Given the description of an element on the screen output the (x, y) to click on. 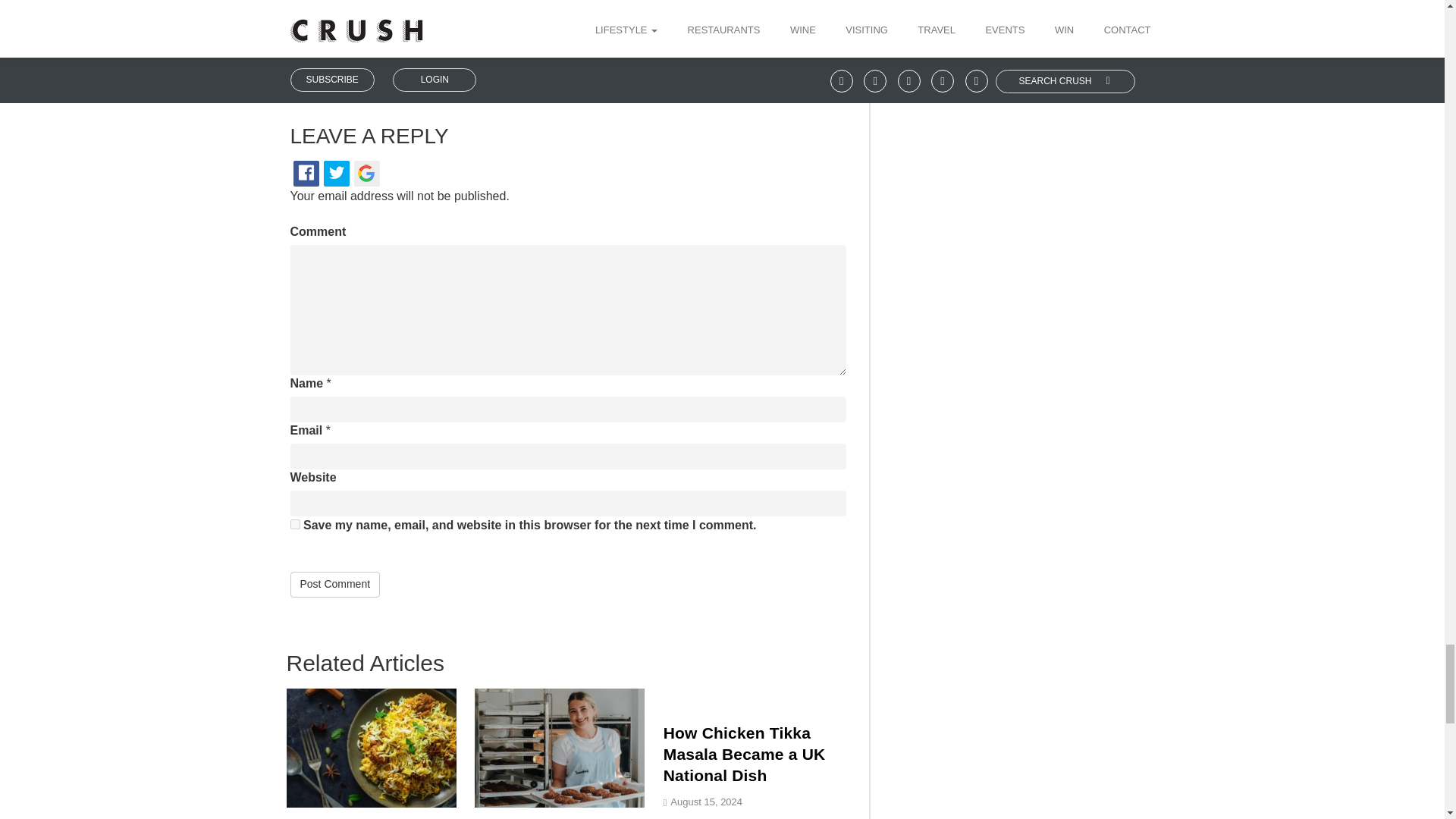
yes (294, 524)
Login with Social Networks (567, 182)
Post Comment (334, 584)
